Given the description of an element on the screen output the (x, y) to click on. 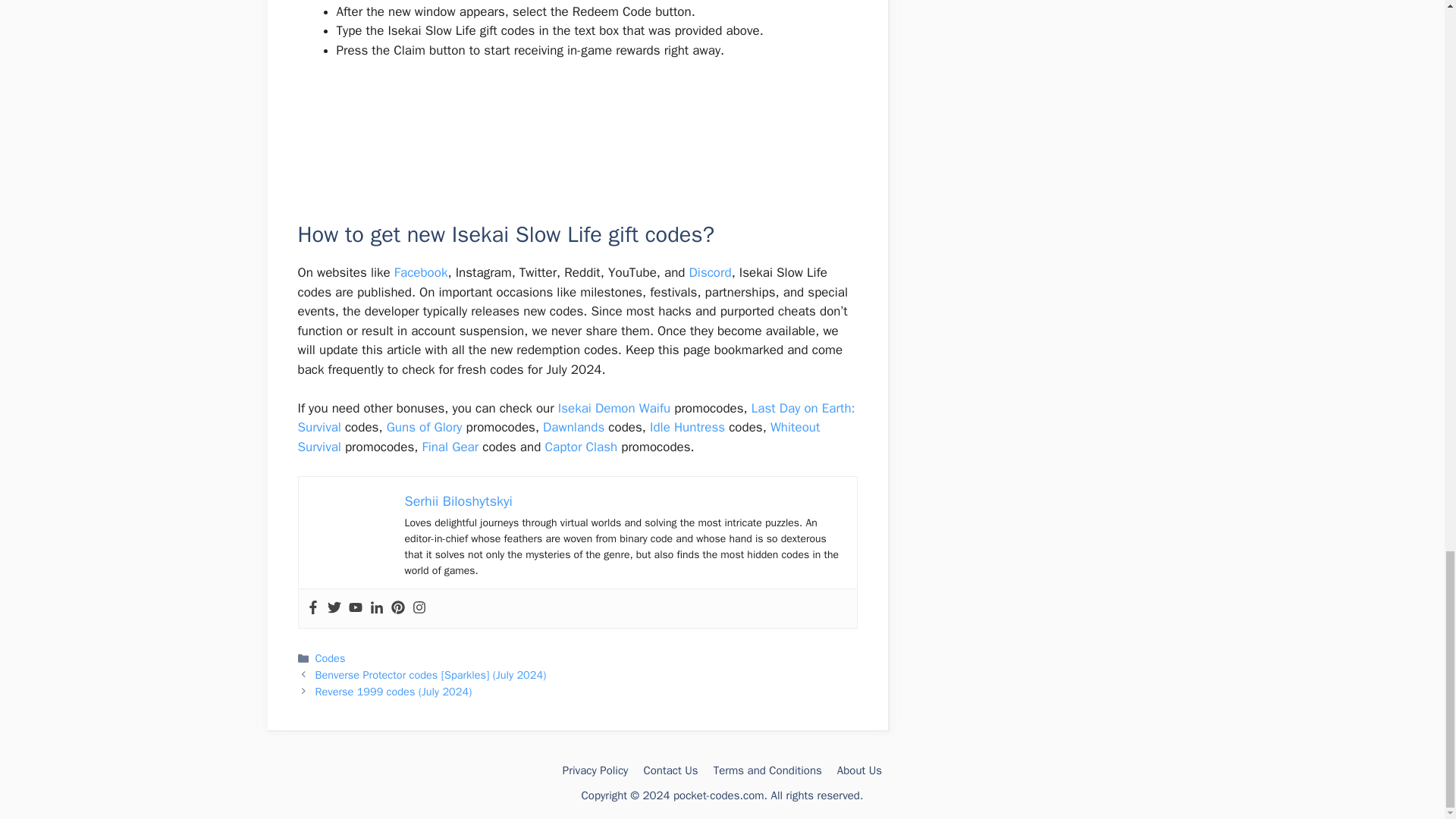
Serhii Biloshytskyi (458, 501)
Codes (330, 658)
Terms and Conditions (767, 770)
Final Gear (450, 446)
Whiteout Survival (558, 437)
Last Day on Earth: Survival (575, 417)
Discord (710, 272)
Captor Clash (580, 446)
Dawnlands (573, 426)
Idle Huntress (687, 426)
Privacy Policy (595, 770)
Contact Us (670, 770)
Isekai Demon Waifu (613, 408)
Facebook (421, 272)
Guns of Glory (425, 426)
